Given the description of an element on the screen output the (x, y) to click on. 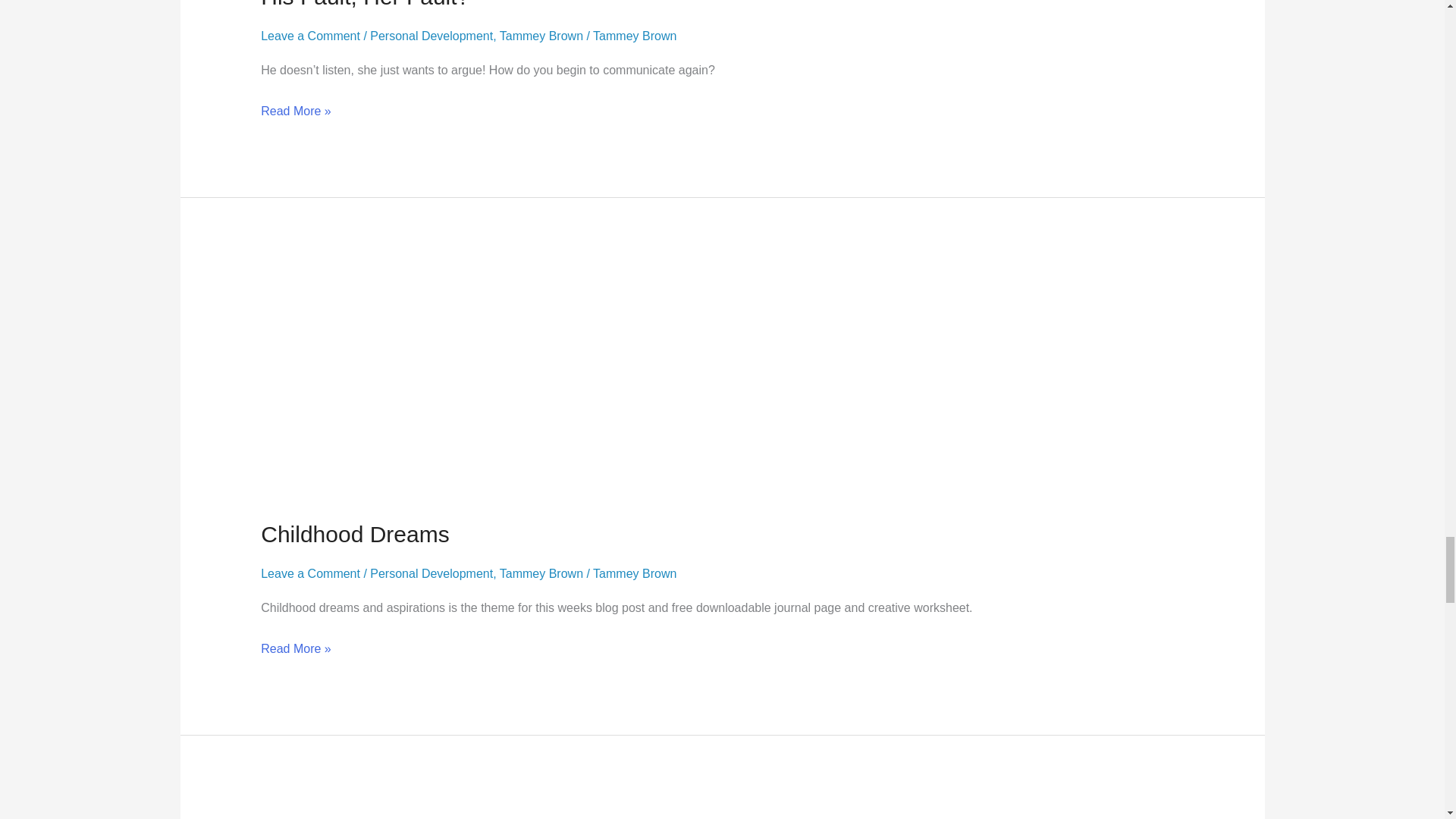
View all posts by Tammey Brown (634, 573)
View all posts by Tammey Brown (634, 35)
